Given the description of an element on the screen output the (x, y) to click on. 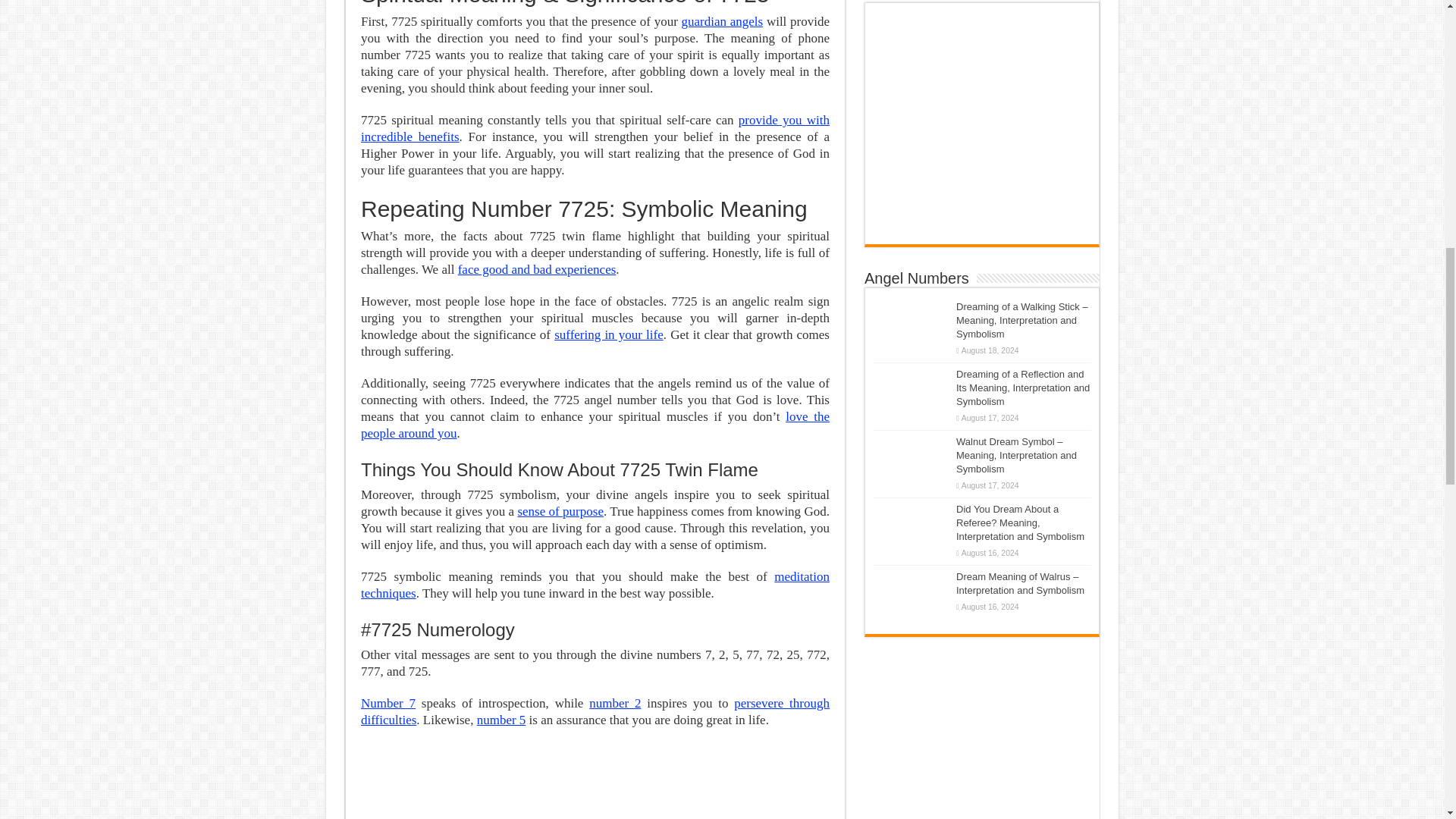
guardian angels (721, 21)
face good and bad experiences (536, 269)
suffering in your life (608, 334)
number 2 (614, 703)
Number 7 (387, 703)
meditation techniques (595, 584)
provide you with incredible benefits (595, 128)
sense of purpose (560, 511)
number 5 (501, 719)
persevere through difficulties (595, 711)
